Given the description of an element on the screen output the (x, y) to click on. 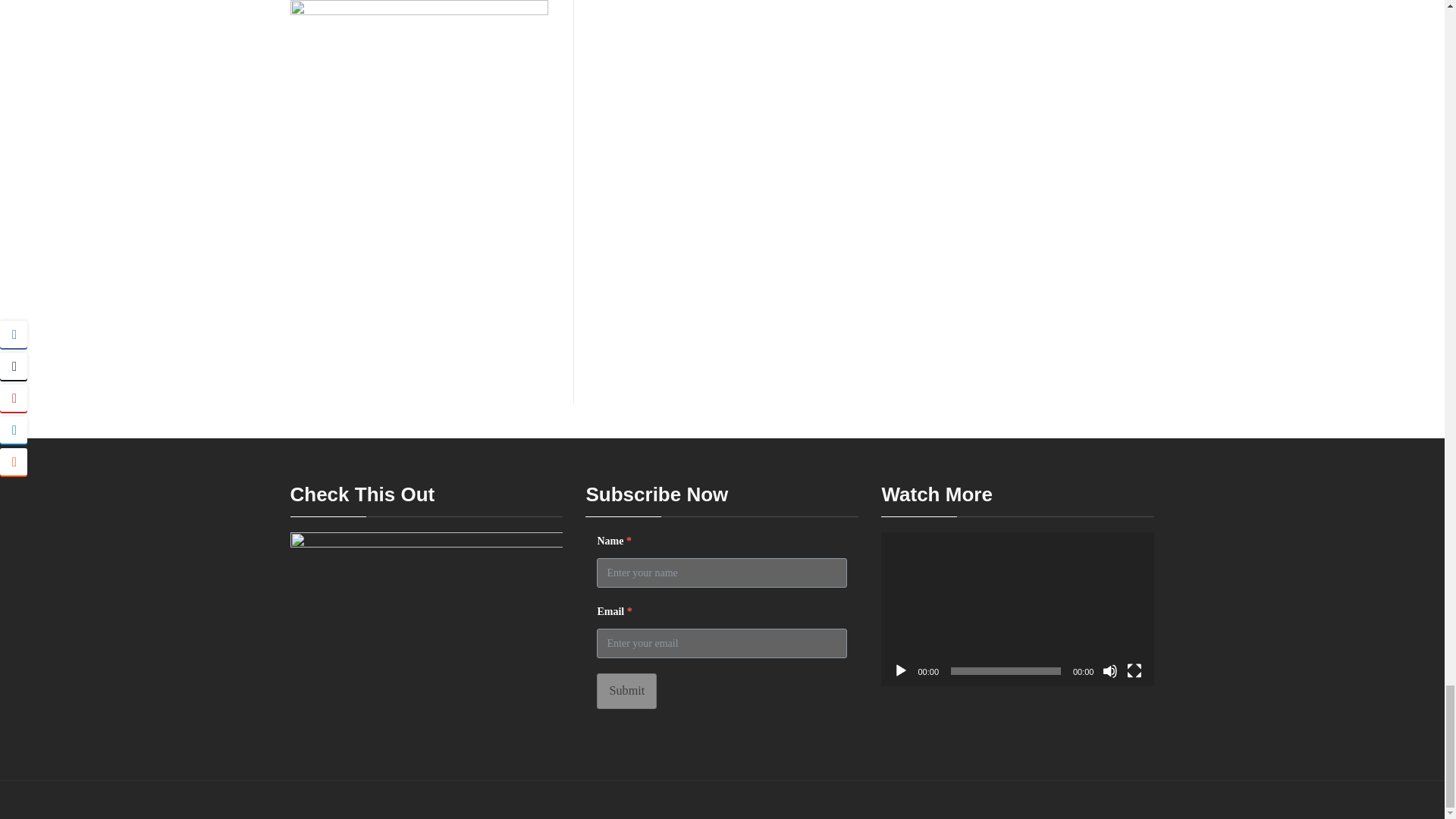
Play (900, 670)
Fullscreen (1133, 670)
Mute (1110, 670)
